Given the description of an element on the screen output the (x, y) to click on. 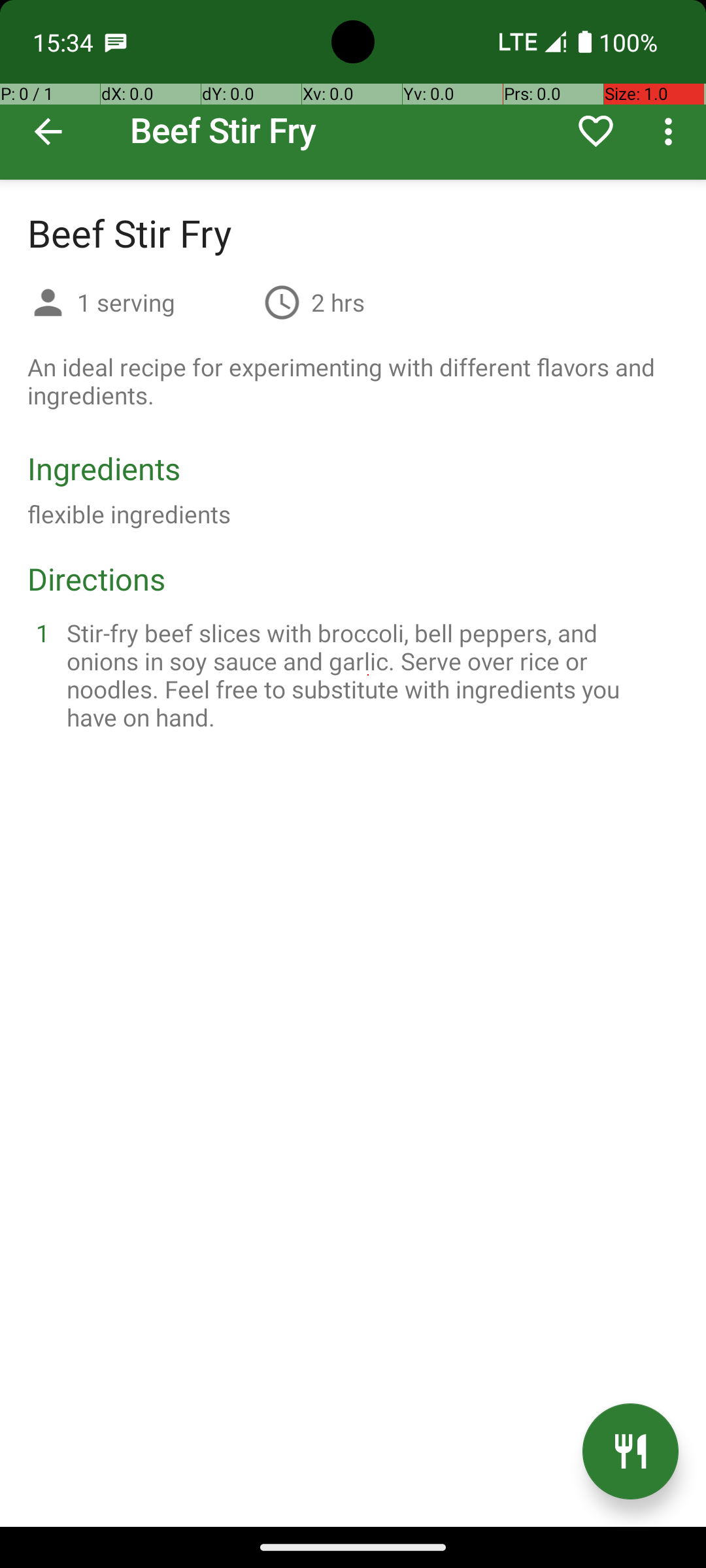
Stir-fry beef slices with broccoli, bell peppers, and onions in soy sauce and garlic. Serve over rice or noodles. Feel free to substitute with ingredients you have on hand. Element type: android.widget.TextView (368, 674)
